Given the description of an element on the screen output the (x, y) to click on. 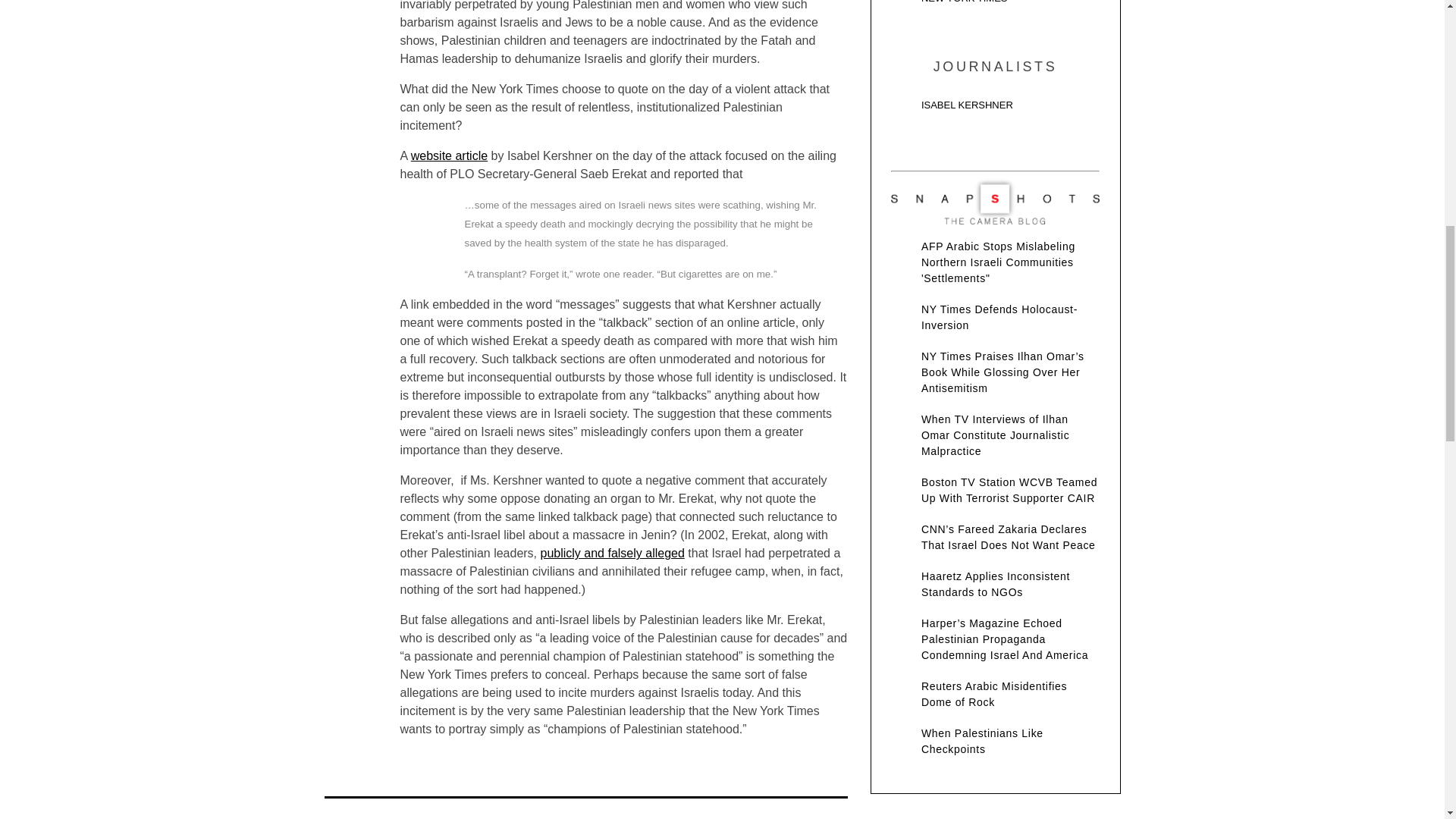
Isabel Kershner (995, 108)
New York Times (995, 6)
